Given the description of an element on the screen output the (x, y) to click on. 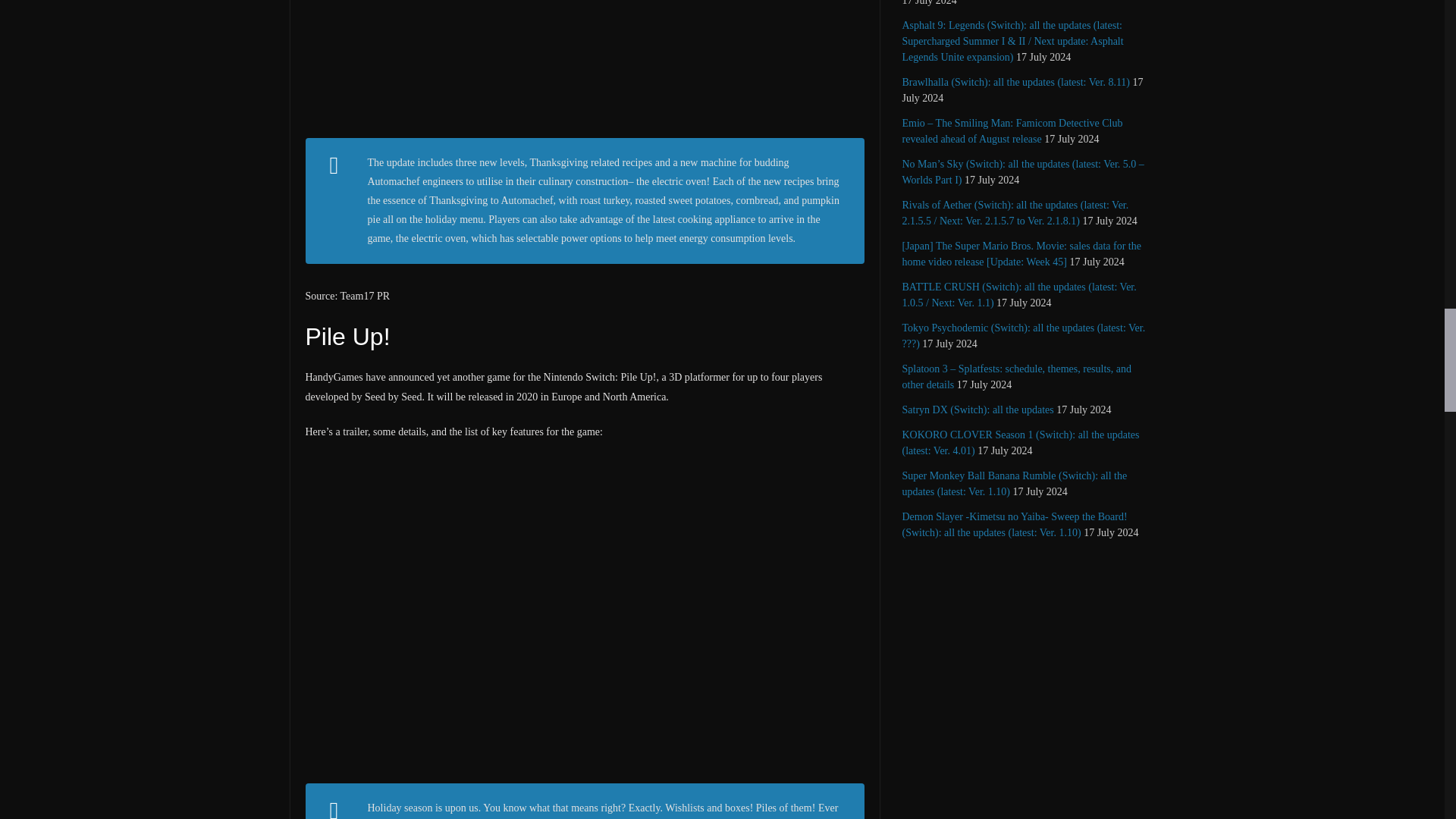
Automachef Thanksgiving Update (583, 63)
